Given the description of an element on the screen output the (x, y) to click on. 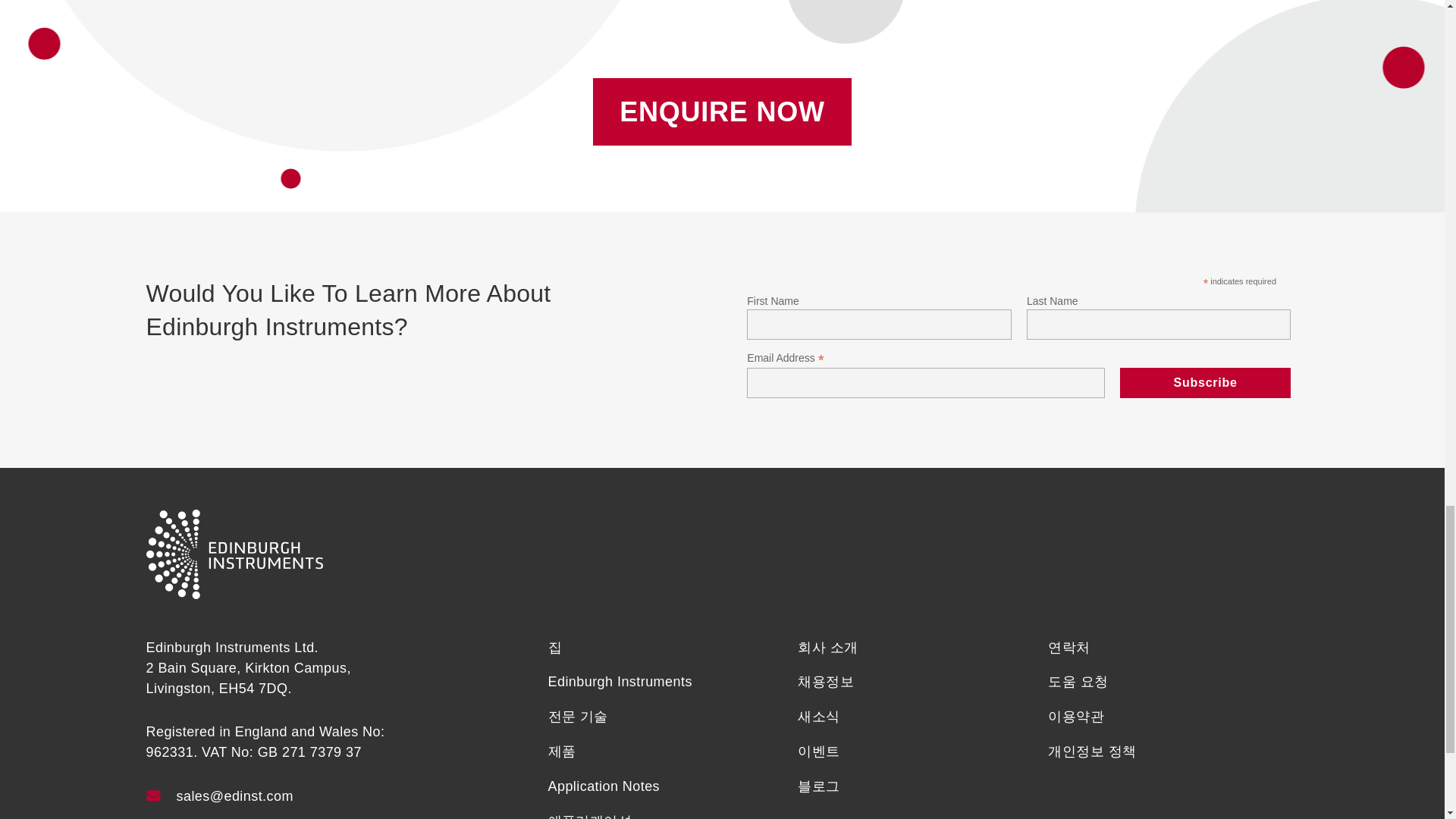
Subscribe (1205, 381)
Edinburgh Instruments home page (233, 594)
